Given the description of an element on the screen output the (x, y) to click on. 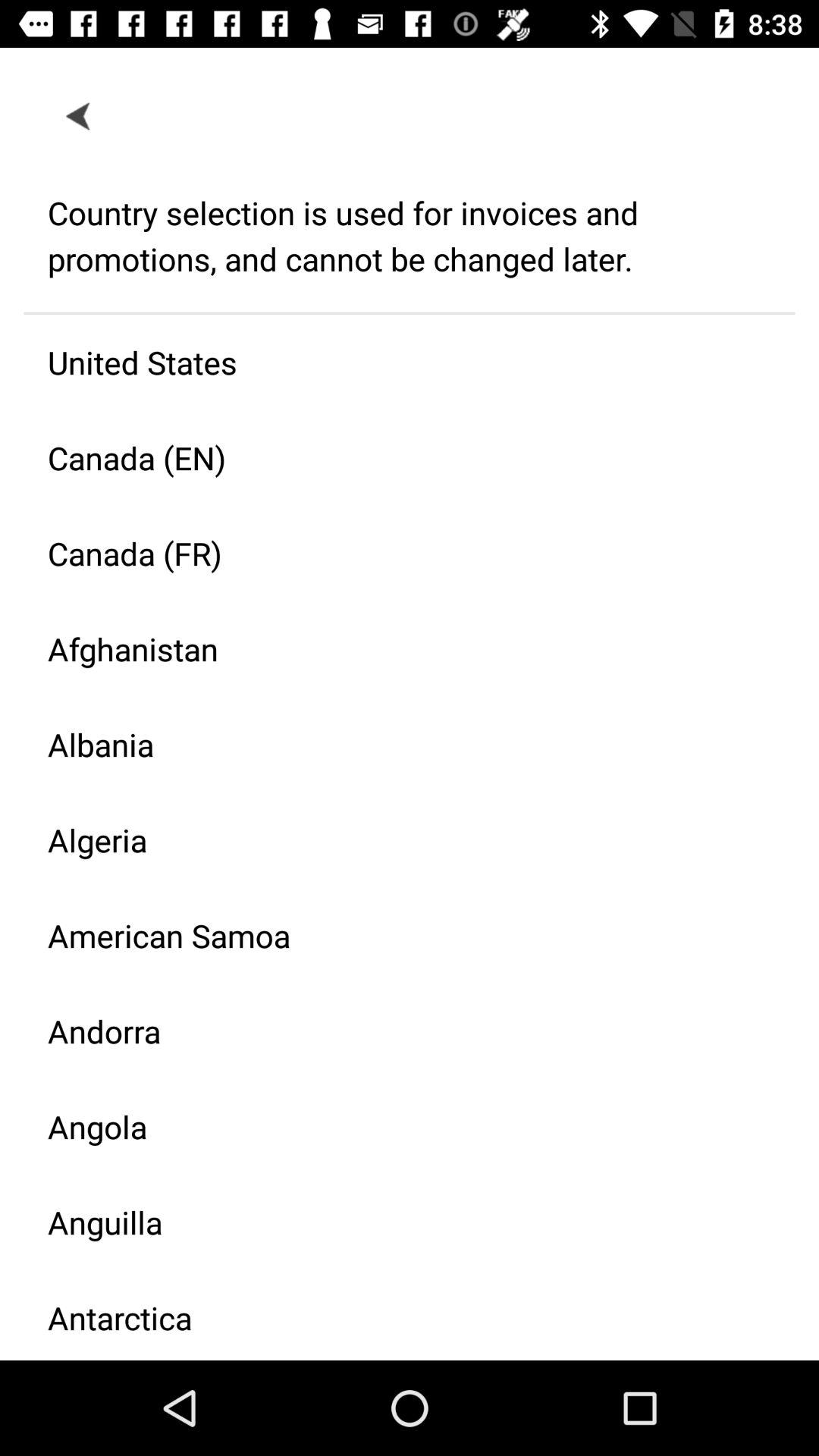
launch icon below canada (en) item (397, 553)
